Given the description of an element on the screen output the (x, y) to click on. 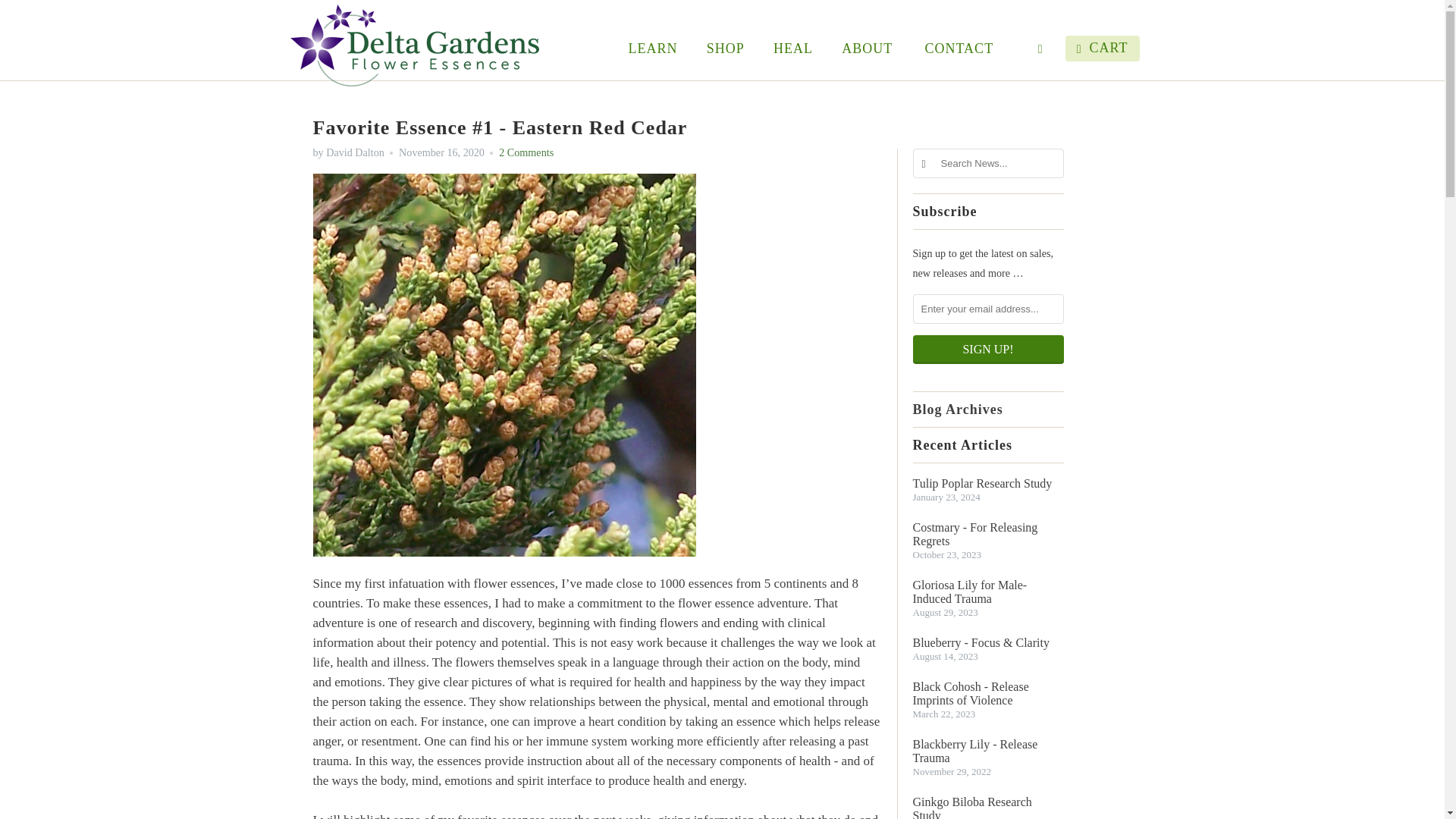
Delta Gardens (413, 45)
Ginkgo Biloba Research Study (988, 807)
Blackberry Lily - Release Trauma (988, 750)
Tulip Poplar Research Study (988, 483)
Sign Up! (988, 348)
Black Cohosh - Release Imprints of Violence (988, 693)
Gloriosa Lily for Male-Induced Trauma (988, 592)
Costmary - For Releasing Regrets (988, 533)
